Given the description of an element on the screen output the (x, y) to click on. 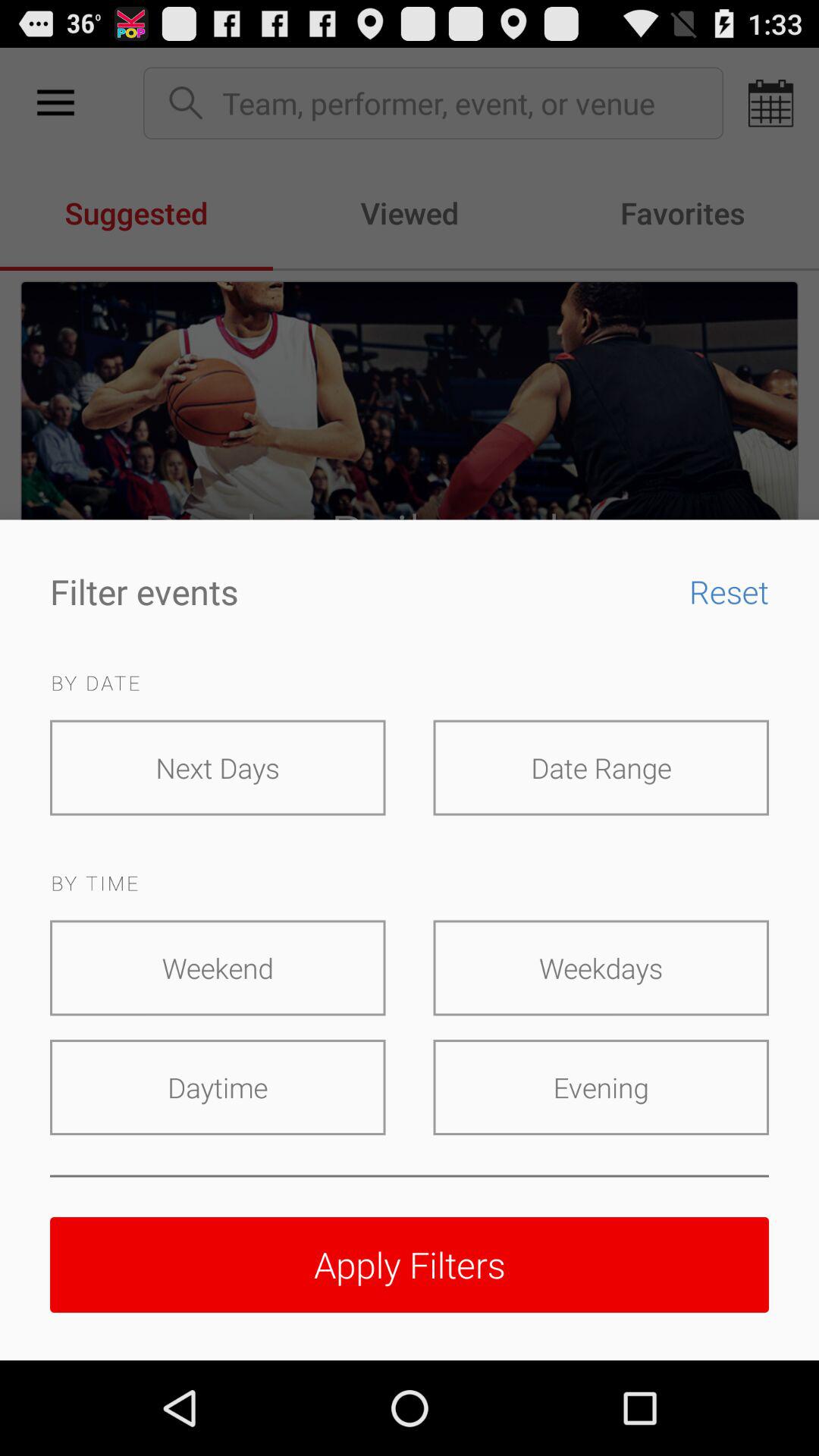
select the item next to evening (217, 1087)
